Given the description of an element on the screen output the (x, y) to click on. 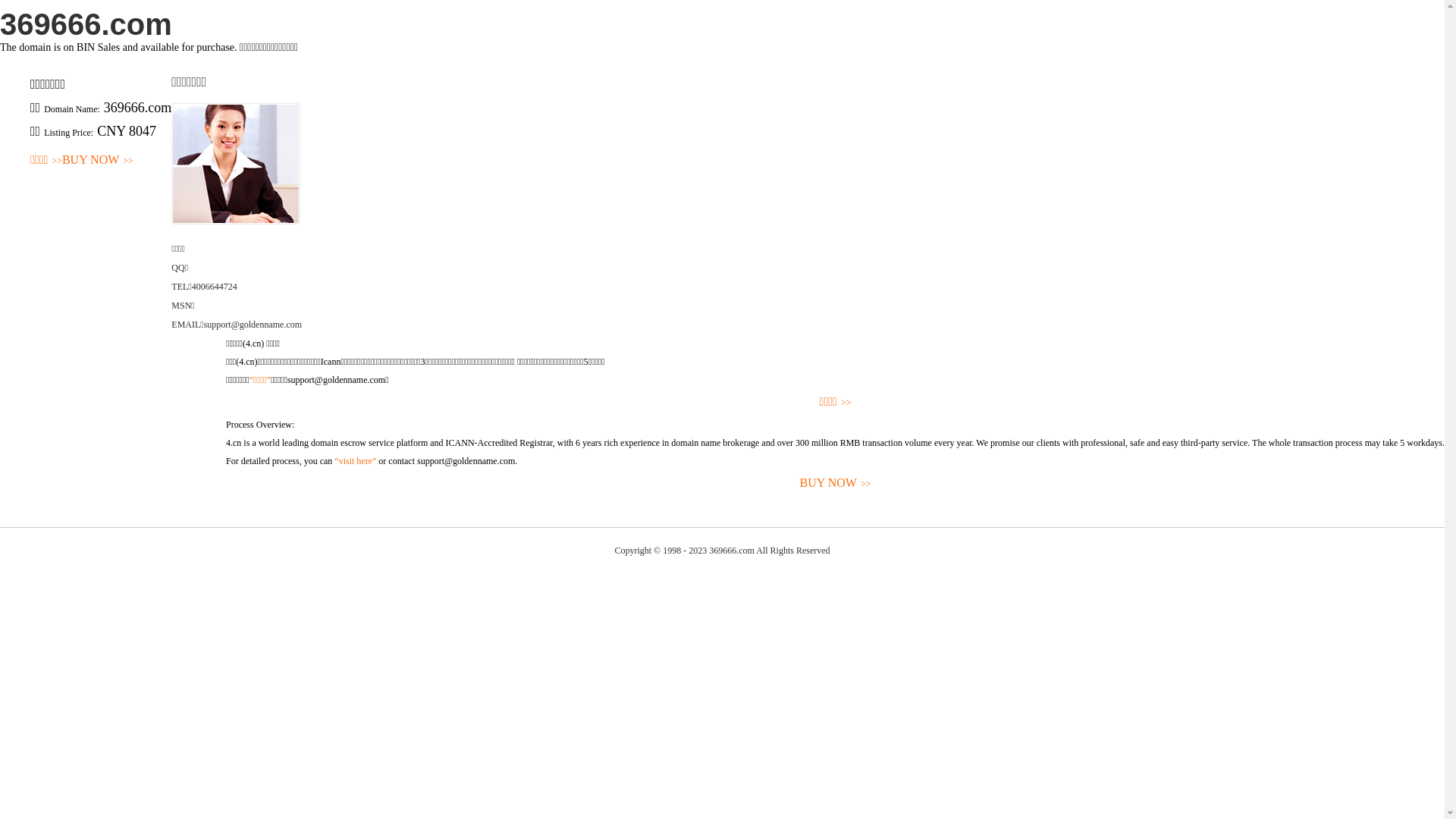
BUY NOW>> Element type: text (834, 483)
BUY NOW>> Element type: text (97, 160)
